Given the description of an element on the screen output the (x, y) to click on. 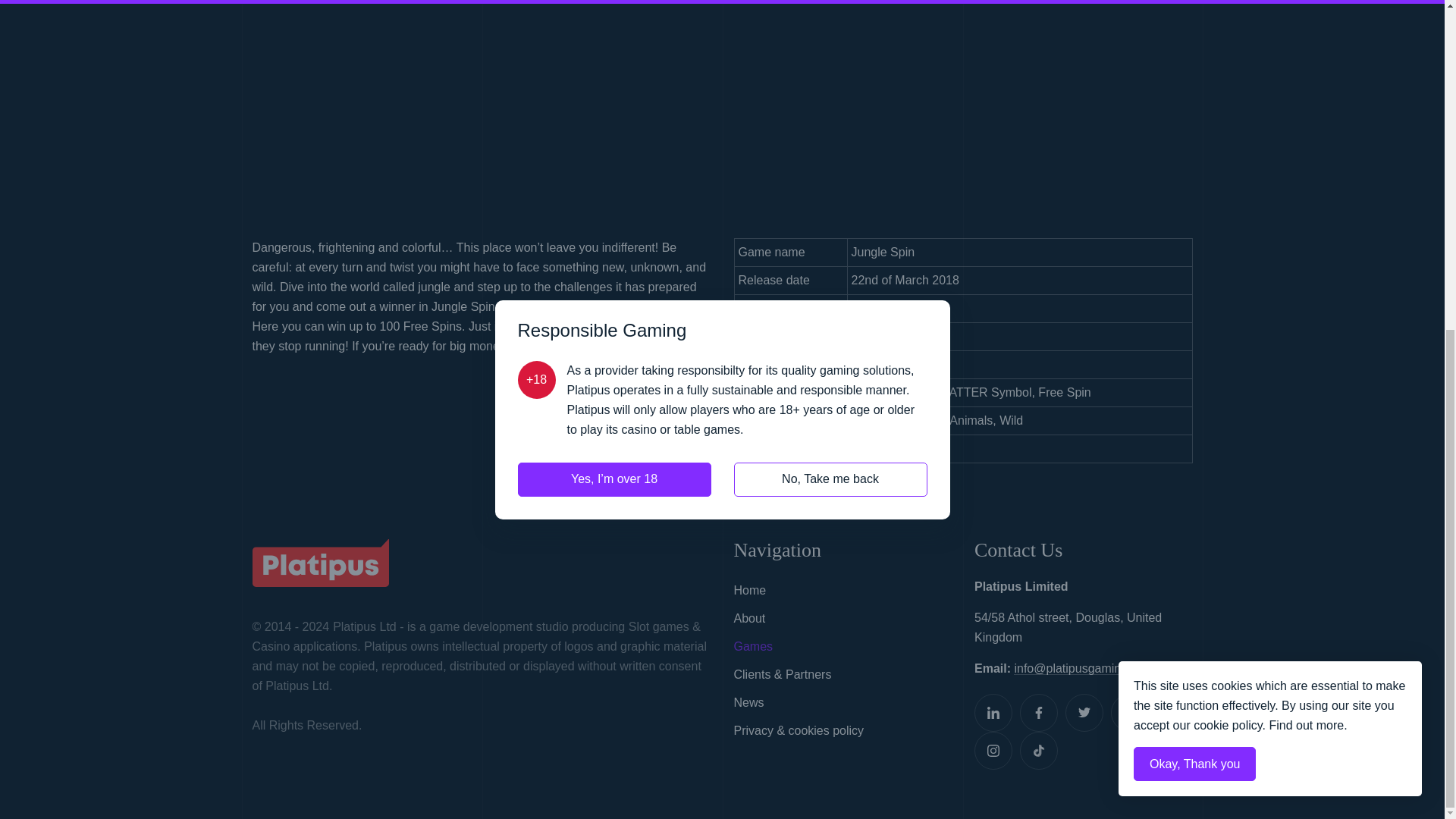
Okay, Thank you (1194, 218)
News (842, 703)
Home (842, 591)
About (842, 619)
Games (842, 646)
